Given the description of an element on the screen output the (x, y) to click on. 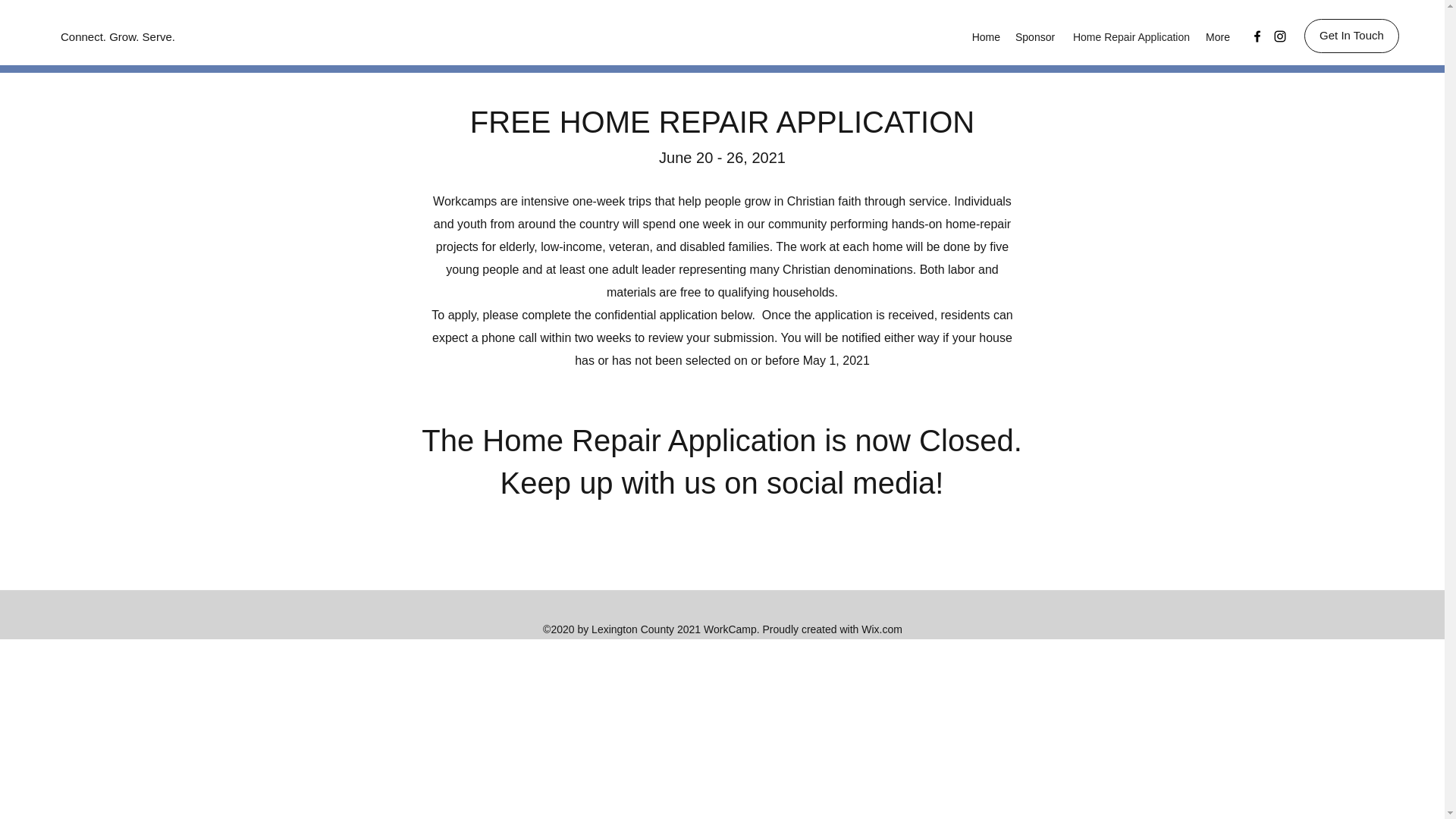
Sponsor (1034, 36)
Home Repair Application (1129, 36)
Get In Touch (1351, 35)
Home (985, 36)
